Given the description of an element on the screen output the (x, y) to click on. 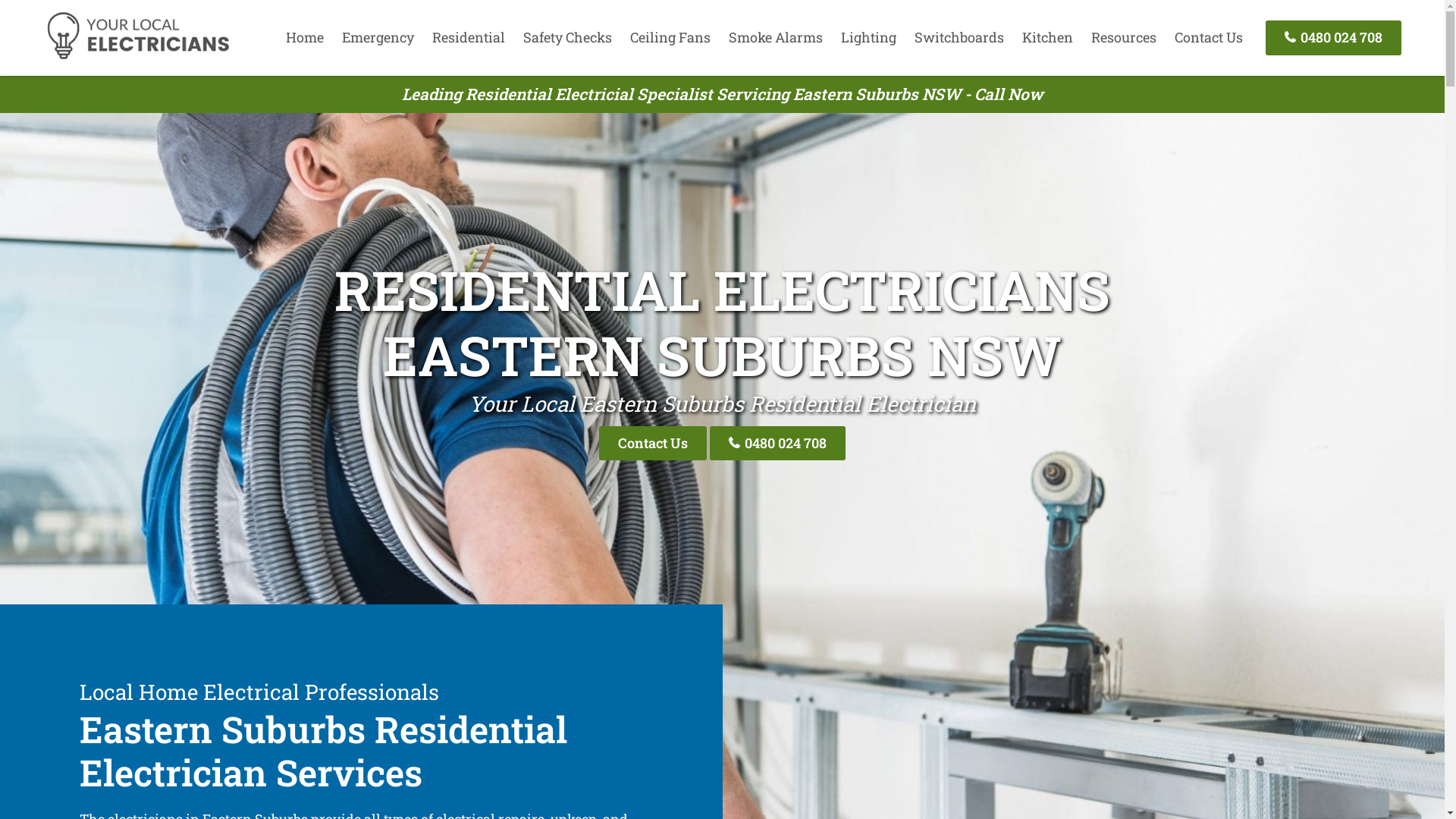
Residential Element type: text (468, 37)
Home Element type: text (304, 37)
0480 024 708 Element type: text (1333, 37)
Electricians Element type: hover (137, 56)
Emergency Element type: text (377, 37)
Lighting Element type: text (868, 37)
Contact Us Element type: text (652, 443)
Ceiling Fans Element type: text (670, 37)
0480 024 708 Element type: text (777, 443)
Resources Element type: text (1123, 37)
Switchboards Element type: text (958, 37)
Smoke Alarms Element type: text (775, 37)
Contact Us Element type: text (1208, 37)
Safety Checks Element type: text (567, 37)
Kitchen Element type: text (1047, 37)
